Given the description of an element on the screen output the (x, y) to click on. 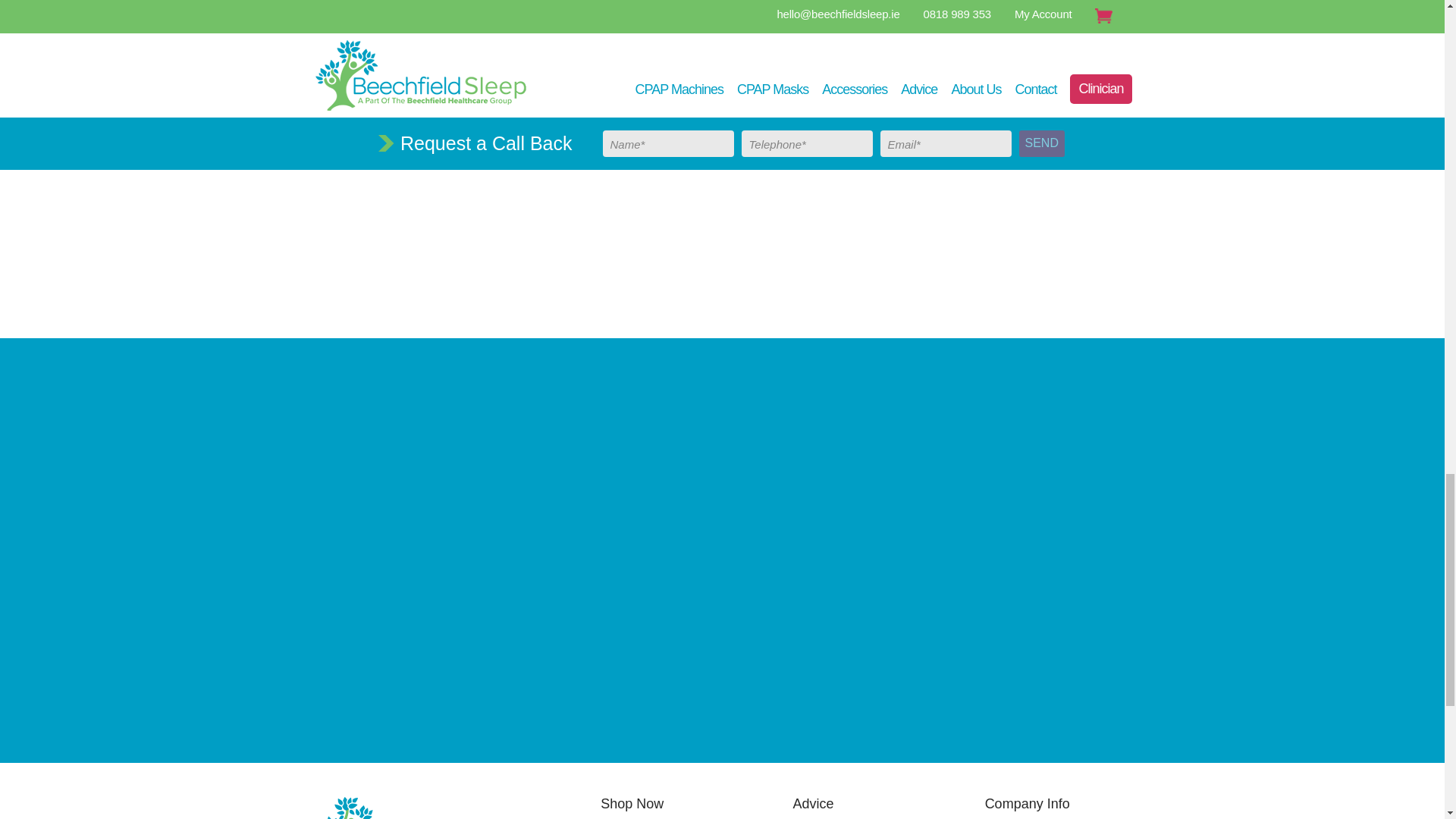
logo (418, 807)
